Given the description of an element on the screen output the (x, y) to click on. 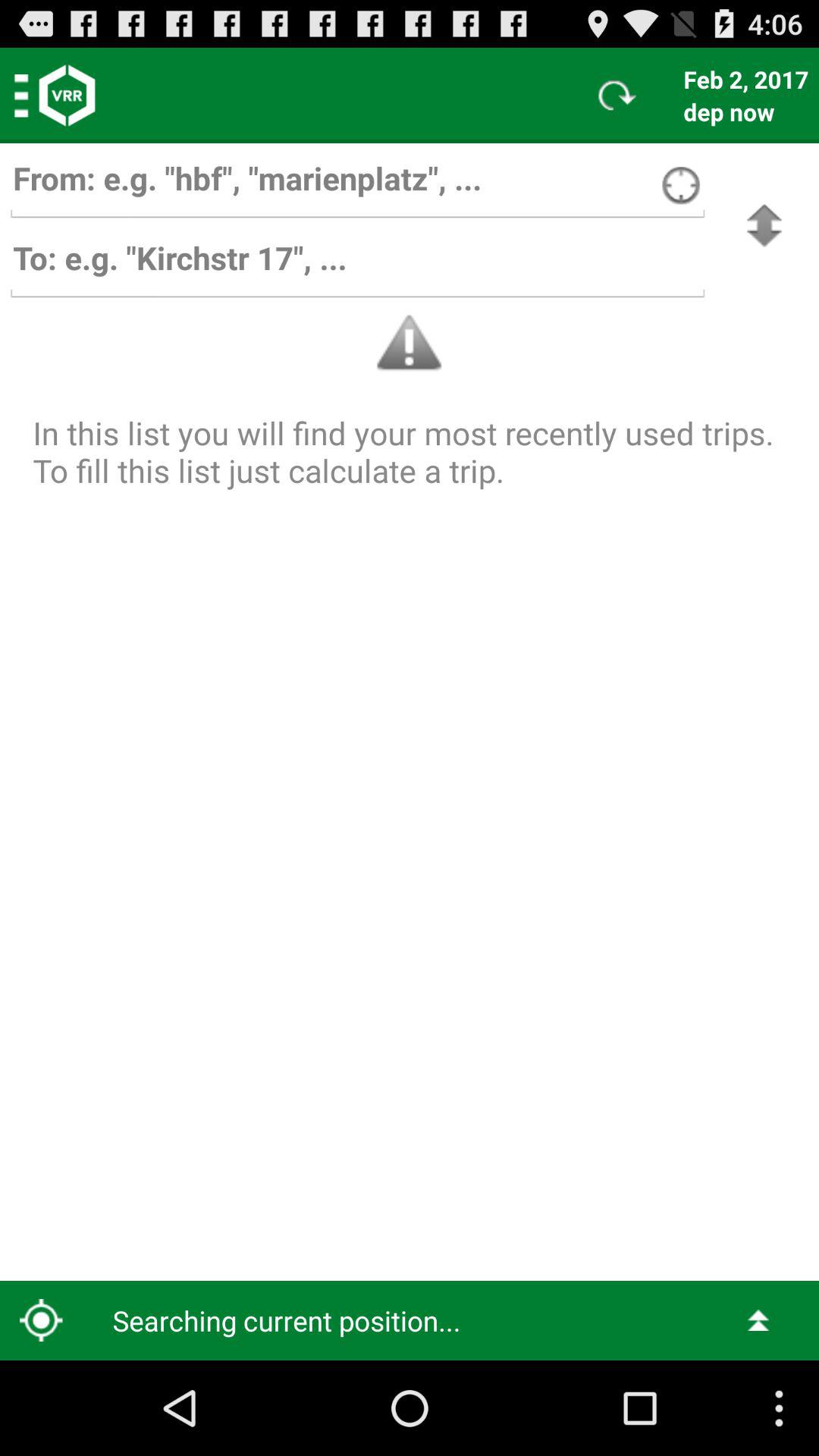
enter end address (357, 265)
